Given the description of an element on the screen output the (x, y) to click on. 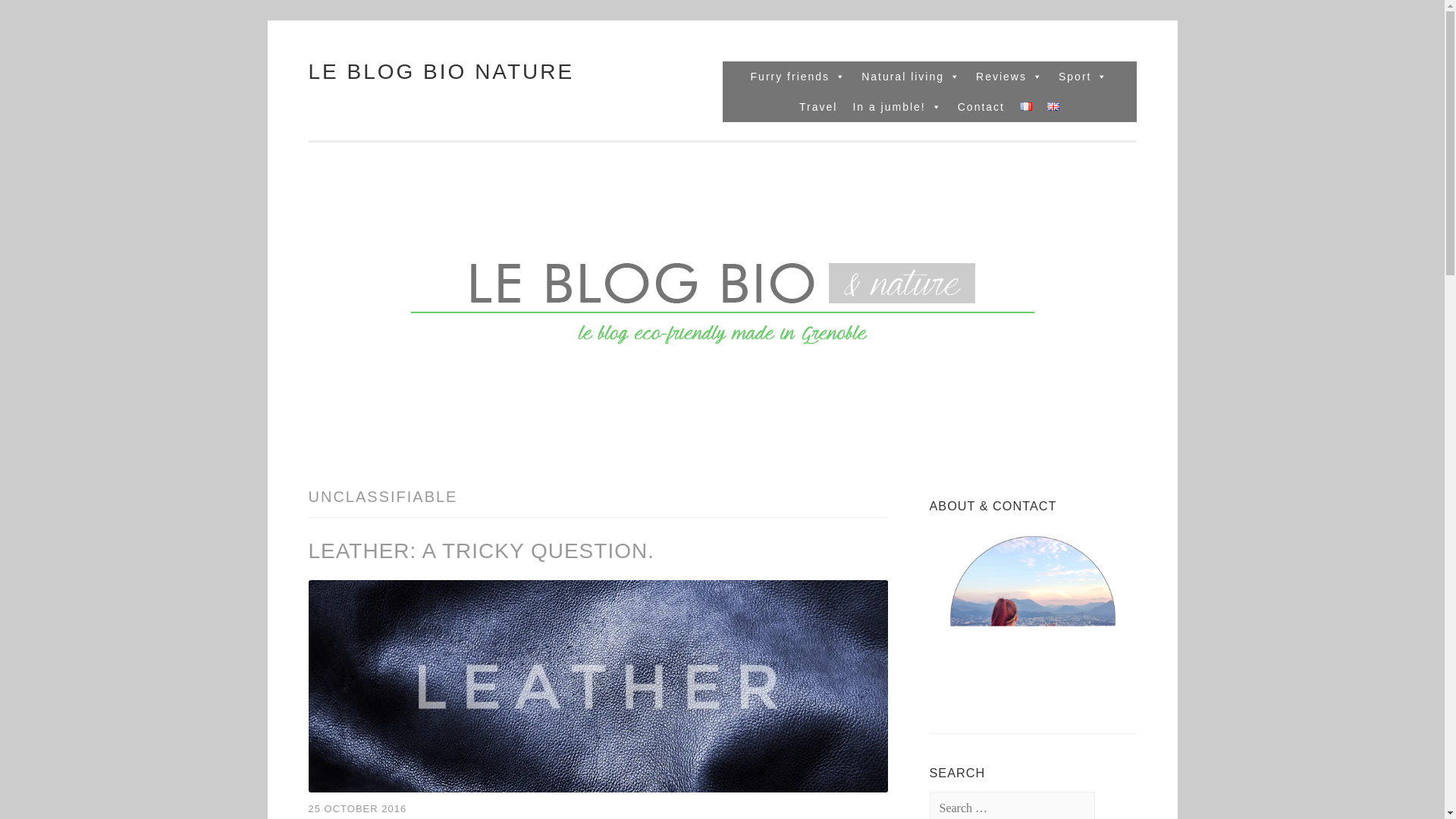
In a jumble! (896, 106)
Natural living (910, 76)
English (1052, 106)
Search (42, 16)
Contact (980, 106)
LE BLOG BIO NATURE (440, 71)
LEATHER: A TRICKY QUESTION. (480, 550)
Furry friends (798, 76)
Travel (818, 106)
Sport (1083, 76)
